Given the description of an element on the screen output the (x, y) to click on. 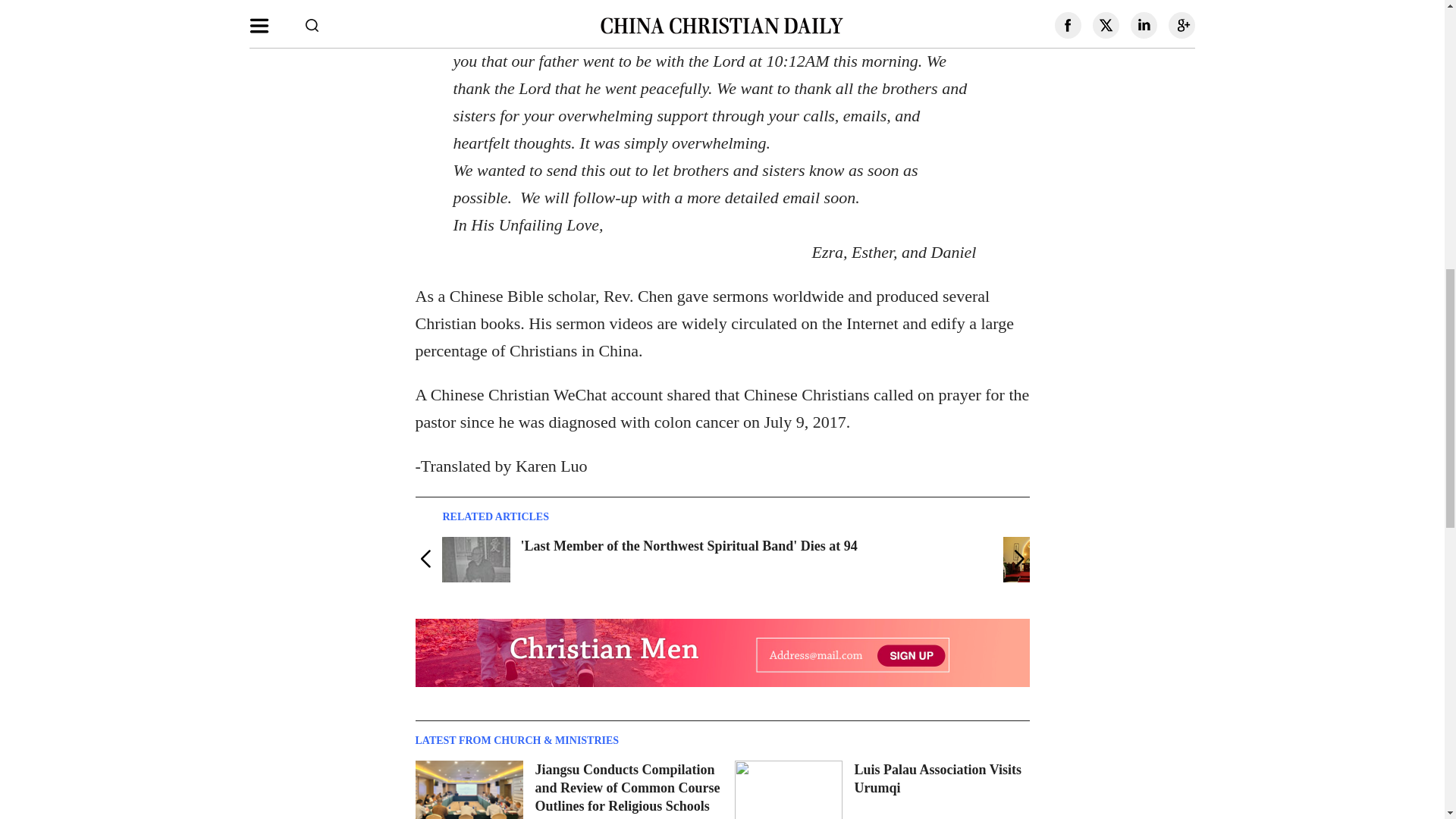
'Last Member of the Northwest Spiritual Band' Dies at 94 (688, 545)
Luis Palau Association Visits Urumqi (937, 778)
